Given the description of an element on the screen output the (x, y) to click on. 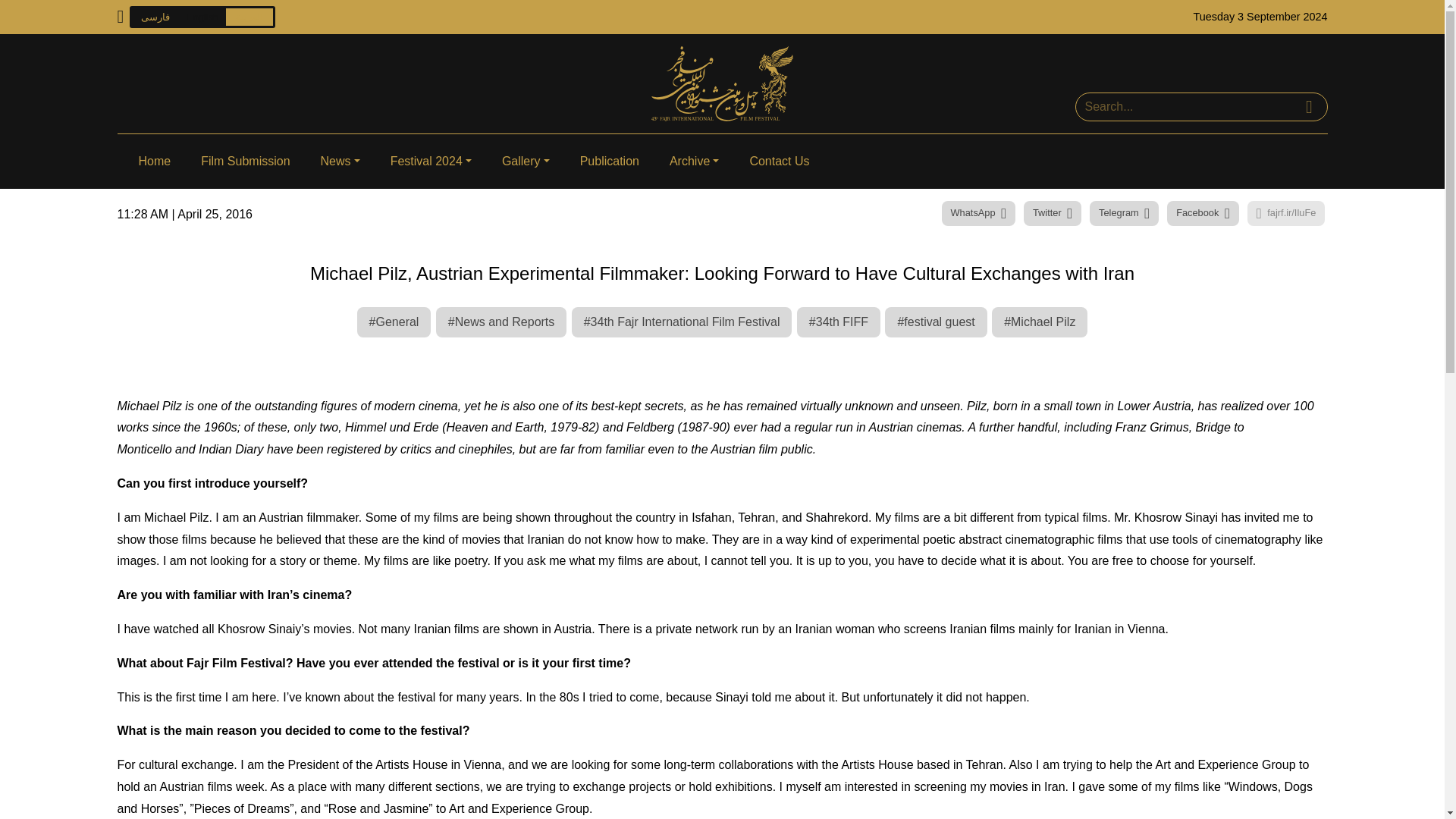
festival guest (936, 322)
Share on Facebook (1203, 213)
Home (154, 161)
Facebook (1203, 213)
WhatsApp (979, 213)
General (393, 322)
English (202, 16)
Telegram (1123, 213)
Film Submission (245, 161)
34th FIFF (838, 322)
